Given the description of an element on the screen output the (x, y) to click on. 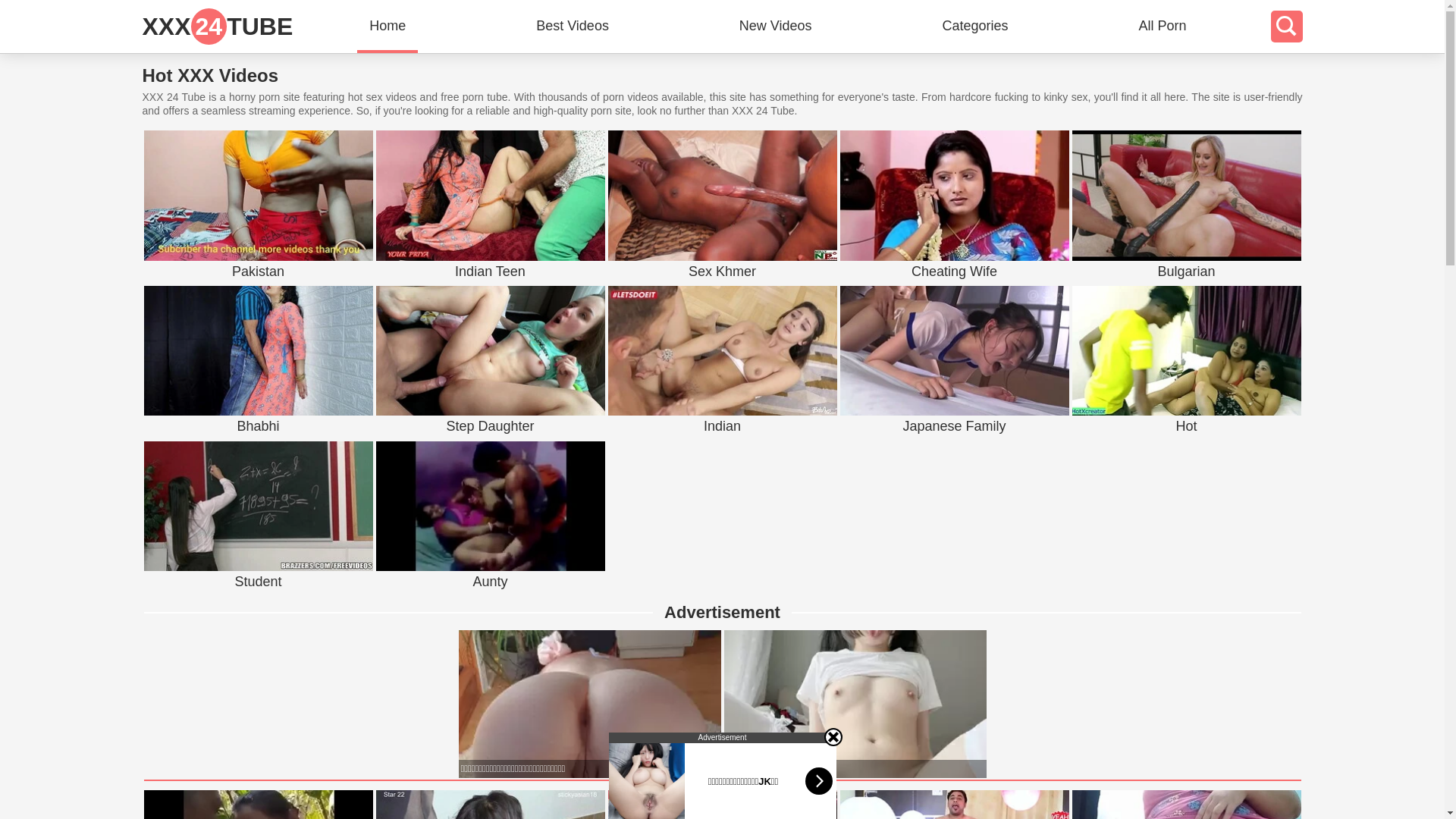
New Videos Element type: text (775, 26)
Hot Element type: text (1186, 426)
Japanese Family Element type: text (954, 426)
Cheating Wife Element type: hover (954, 195)
Cheating Wife Element type: text (954, 271)
Bhabhi Element type: hover (258, 350)
Indian Teen Element type: text (490, 271)
Student Element type: text (258, 582)
Indian Teen Element type: hover (490, 195)
Japanese Family Element type: hover (954, 350)
Step Daughter Element type: text (490, 426)
Sex Khmer Element type: hover (722, 195)
Best Videos Element type: text (572, 26)
Categories Element type: text (974, 26)
Bulgarian Element type: text (1186, 271)
Aunty Element type: text (490, 582)
Aunty Element type: hover (490, 506)
Step Daughter Element type: hover (490, 350)
All Porn Element type: text (1162, 26)
XXX24TUBE Element type: text (217, 26)
Bhabhi Element type: text (258, 426)
Pakistan Element type: hover (258, 195)
Bulgarian Element type: hover (1186, 195)
Pakistan Element type: text (258, 271)
Indian Element type: text (722, 426)
Indian Element type: hover (722, 350)
Sex Khmer Element type: text (722, 271)
Student Element type: hover (258, 506)
Home Element type: text (387, 26)
Hot Element type: hover (1186, 350)
